Given the description of an element on the screen output the (x, y) to click on. 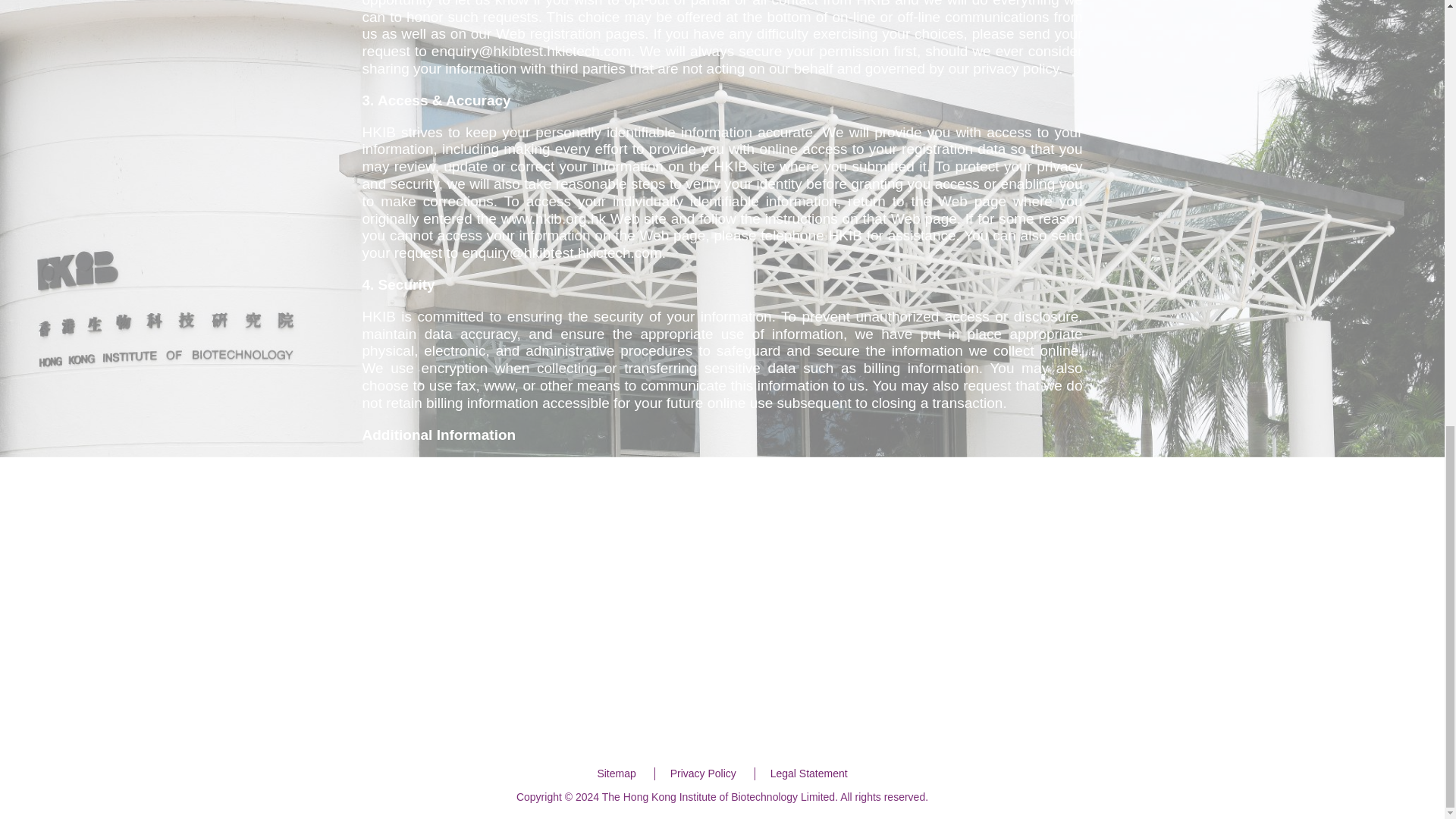
Privacy Policy (702, 773)
Legal Statement (808, 773)
Sitemap (615, 773)
